Given the description of an element on the screen output the (x, y) to click on. 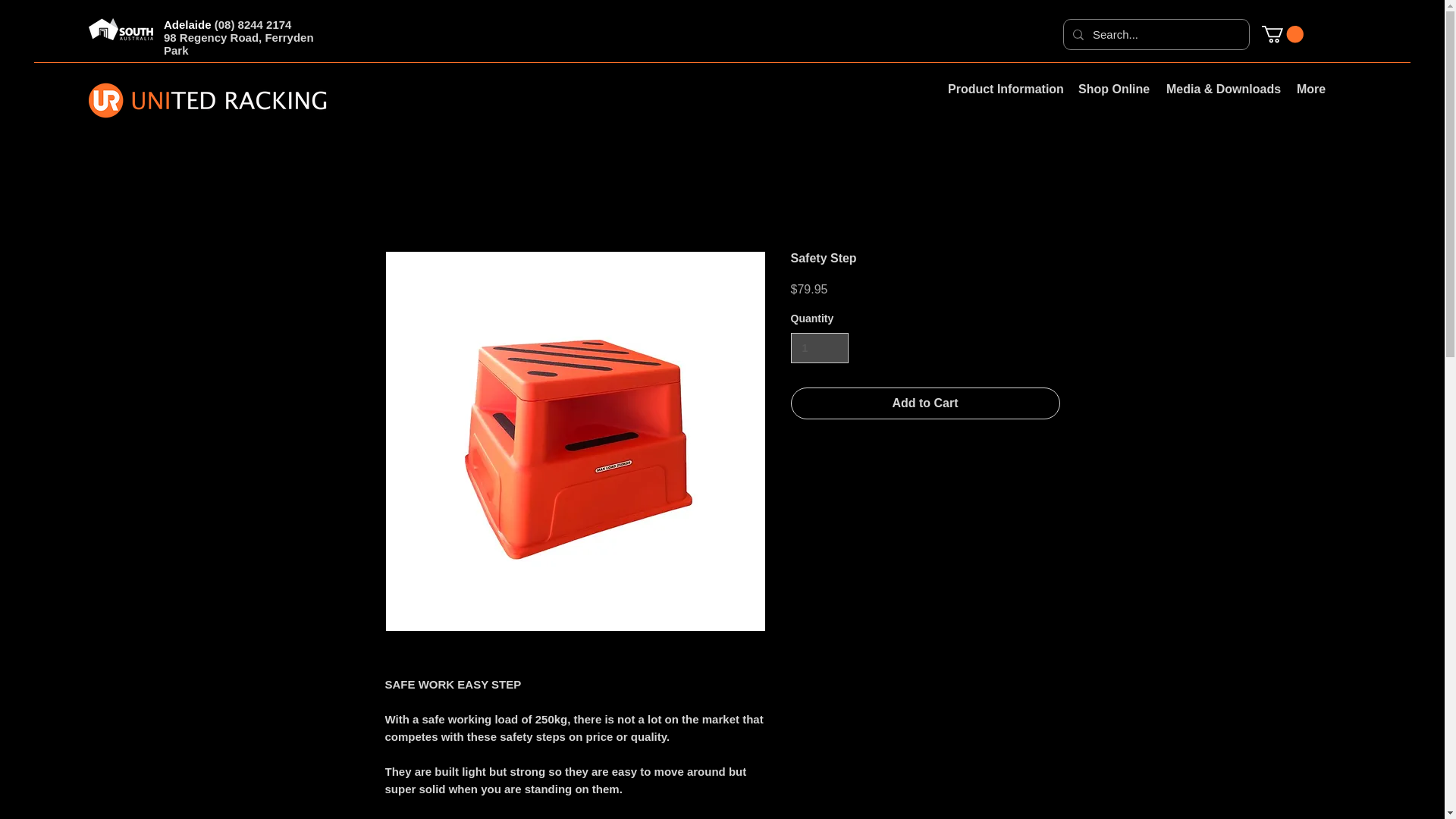
More (1310, 88)
Shop Online (1110, 88)
Product Information (1001, 88)
1 (818, 347)
